Given the description of an element on the screen output the (x, y) to click on. 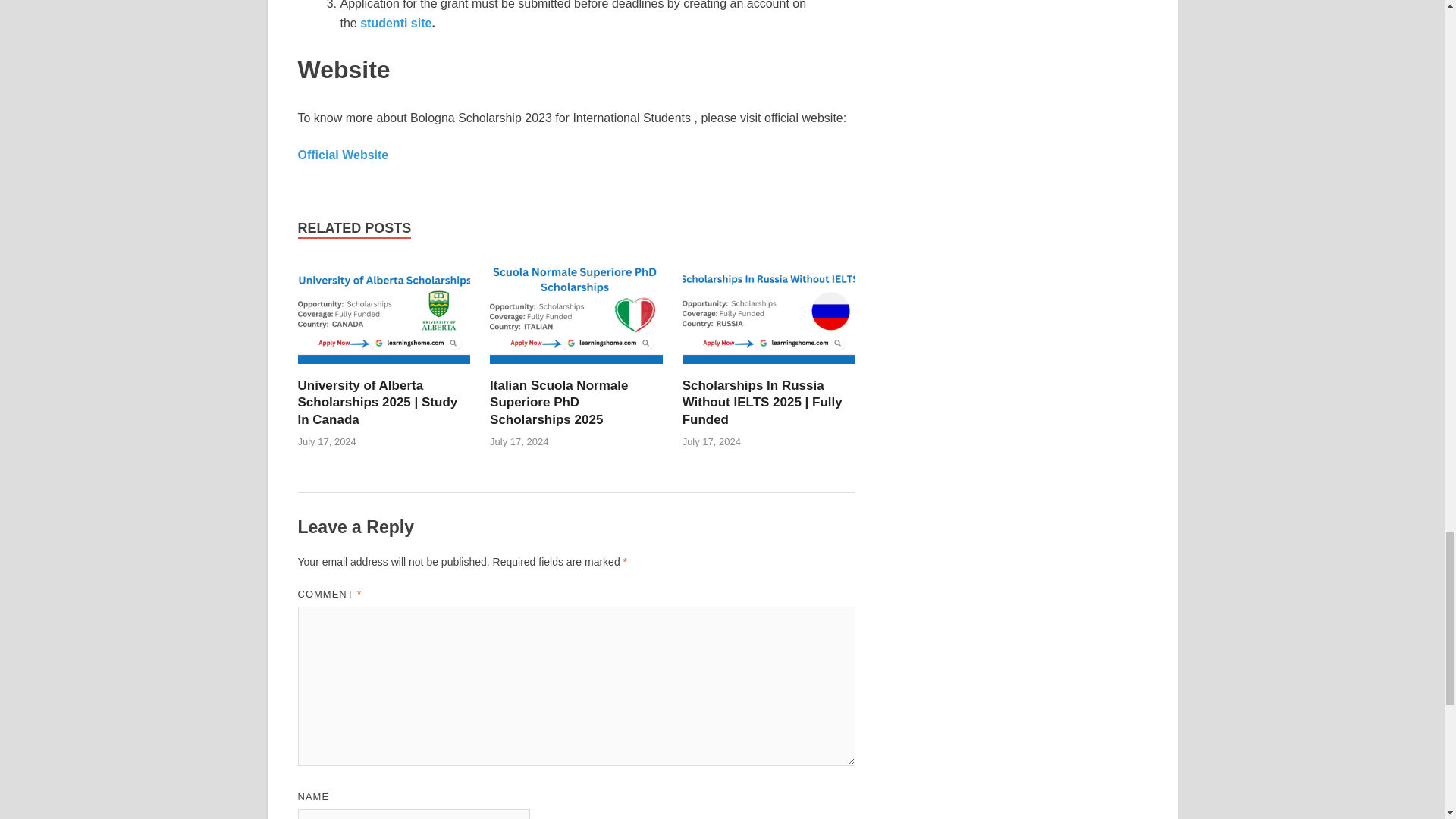
Italian Scuola Normale Superiore PhD Scholarships 2025 (575, 367)
studenti site (394, 22)
Italian Scuola Normale Superiore PhD Scholarships 2025 (558, 401)
Italian Scuola Normale Superiore PhD Scholarships 2025 (558, 401)
Official Website (342, 154)
